Given the description of an element on the screen output the (x, y) to click on. 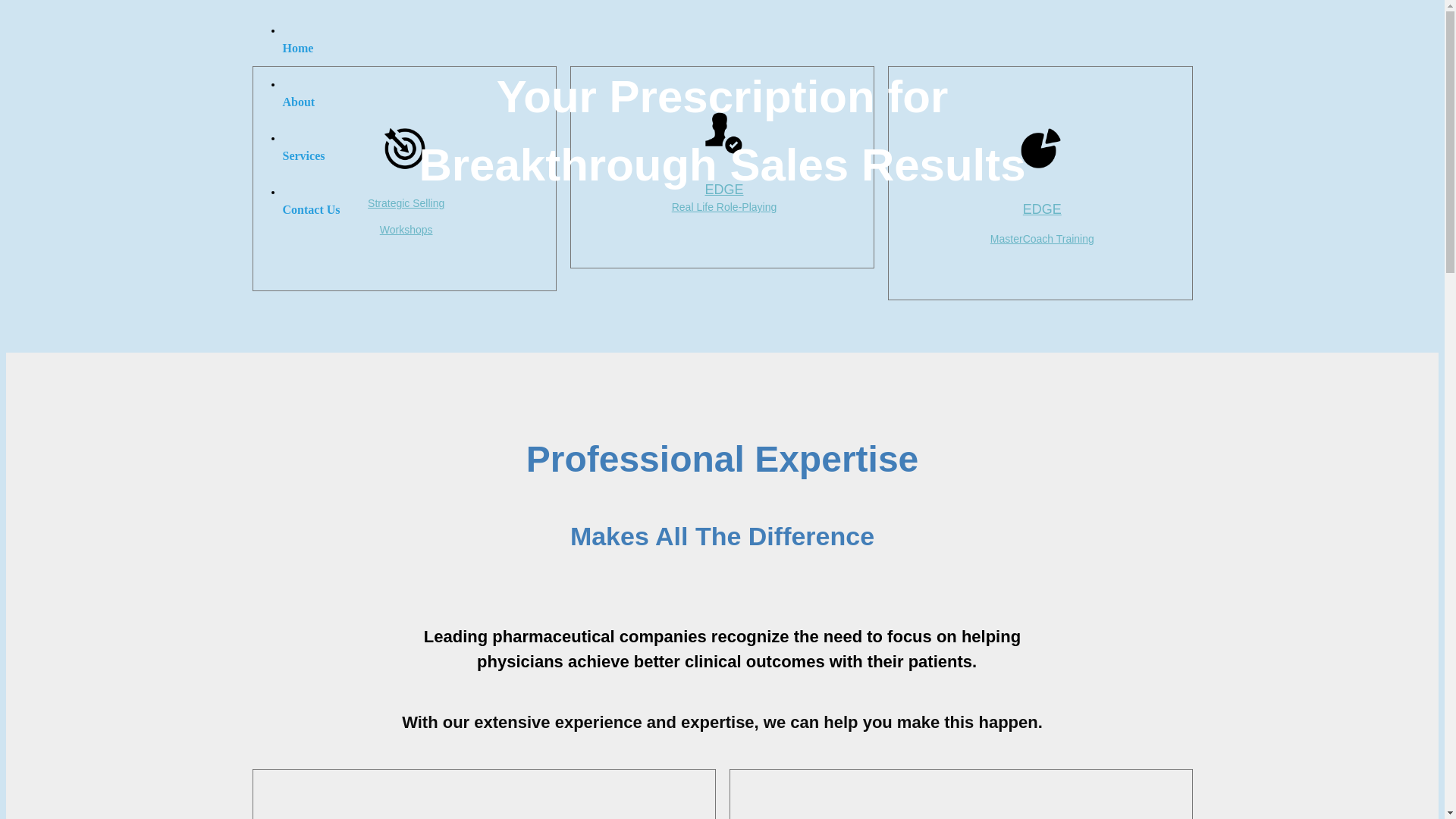
Home Element type: text (737, 42)
EDGE Element type: text (1041, 208)
MasterCoach Training Element type: text (1042, 238)
Real Life Role-Playing Element type: text (724, 206)
Services Element type: text (737, 150)
EDGE Element type: text (723, 189)
Contact Us Element type: text (737, 204)
About Element type: text (737, 96)
Workshops Element type: text (406, 229)
Strategic Selling Element type: text (405, 203)
